Given the description of an element on the screen output the (x, y) to click on. 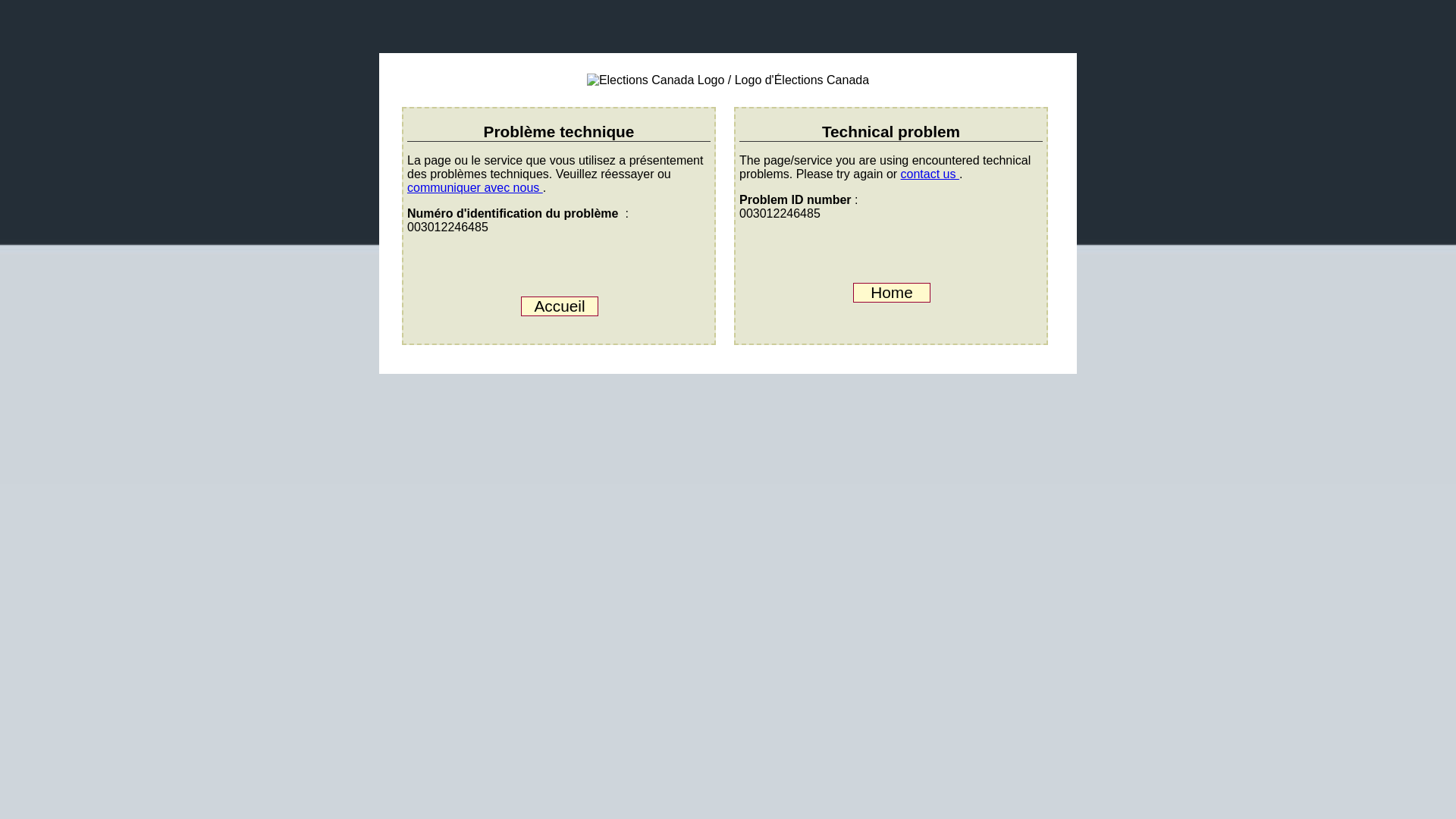
communiquer avec nous (475, 187)
Accueil (559, 306)
contact us (930, 173)
Home (891, 292)
